Given the description of an element on the screen output the (x, y) to click on. 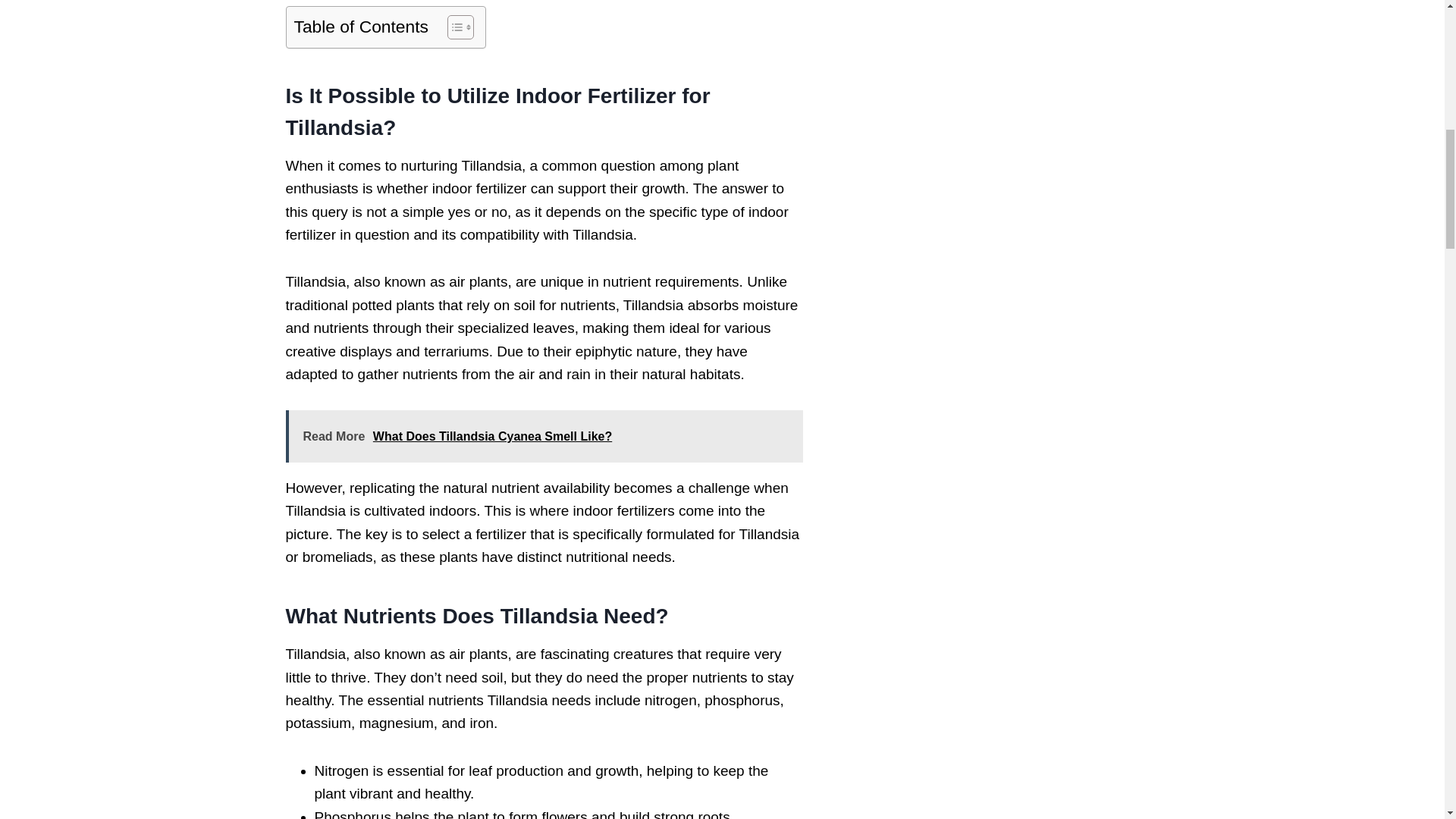
Read More  What Does Tillandsia Cyanea Smell Like? (543, 435)
